Given the description of an element on the screen output the (x, y) to click on. 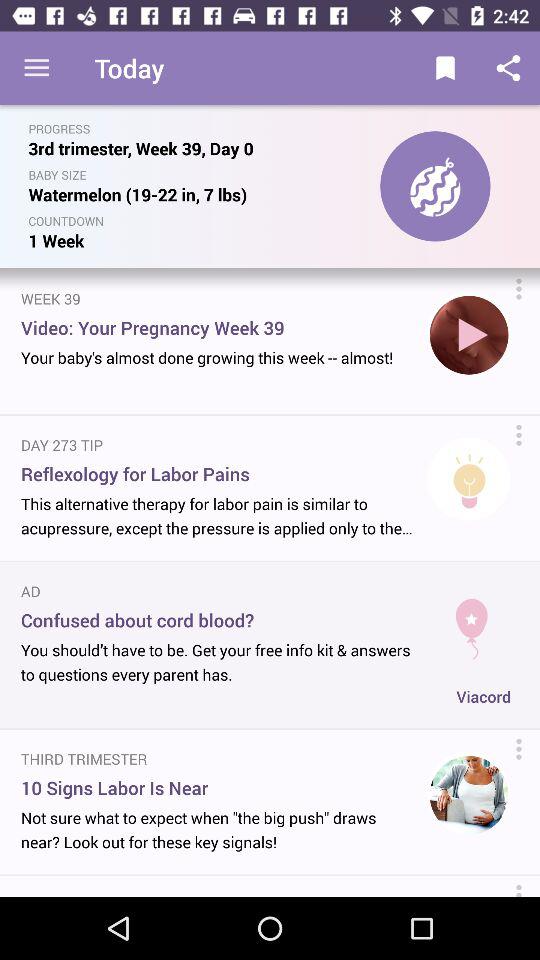
press the viacord icon (483, 696)
